Given the description of an element on the screen output the (x, y) to click on. 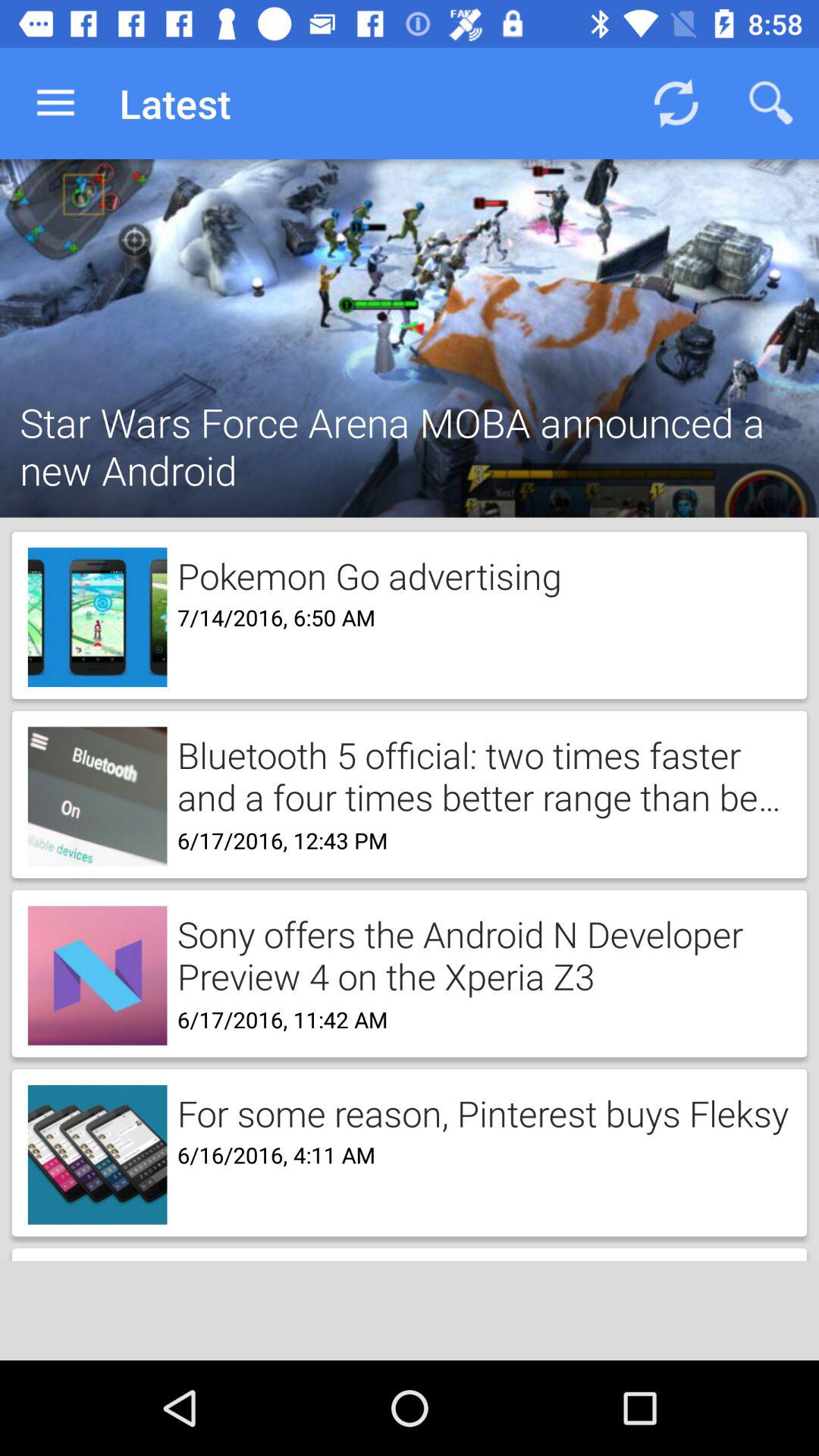
scroll until the 7 14 2016 (271, 616)
